Given the description of an element on the screen output the (x, y) to click on. 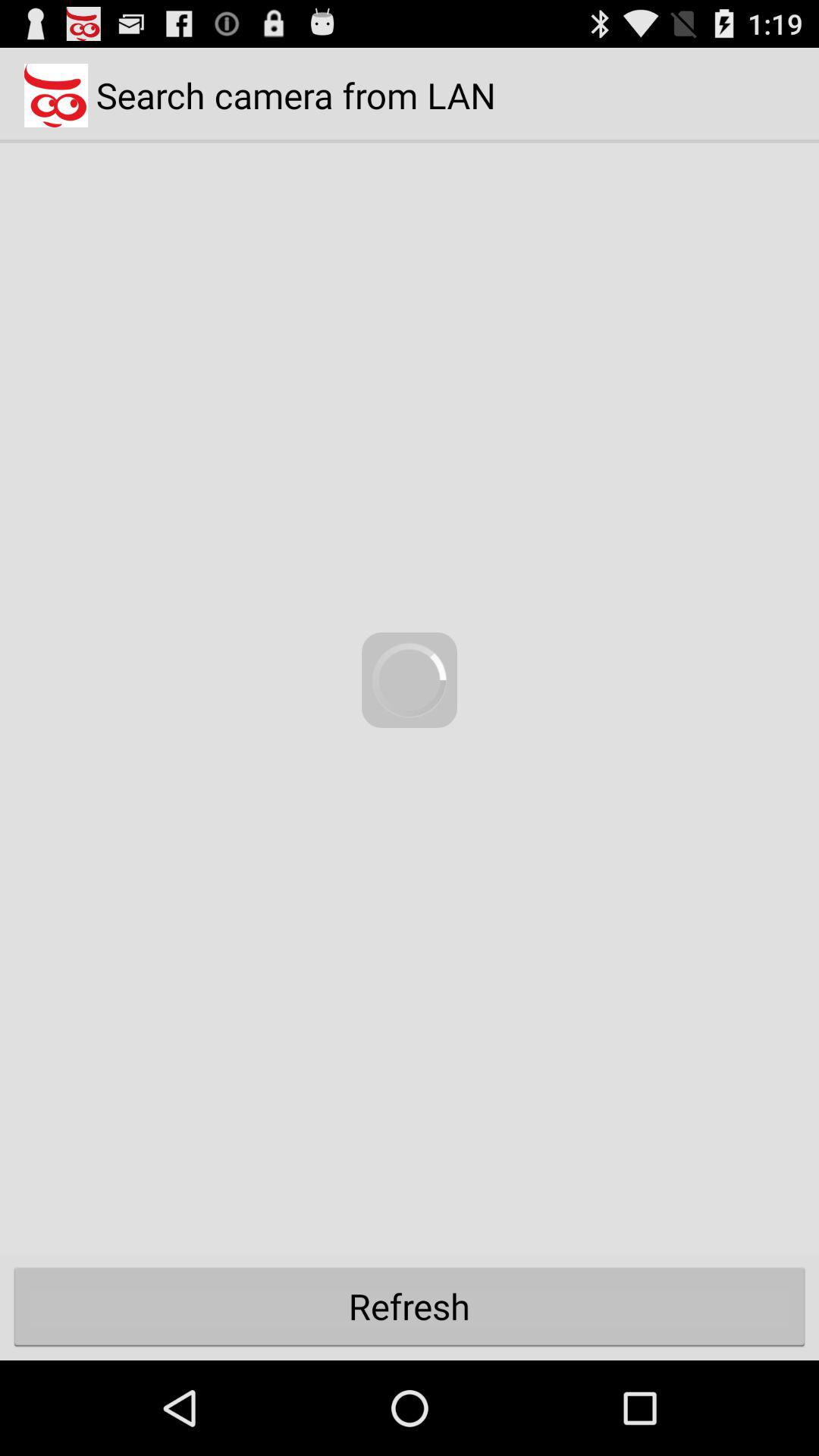
press the refresh button (409, 1306)
